Given the description of an element on the screen output the (x, y) to click on. 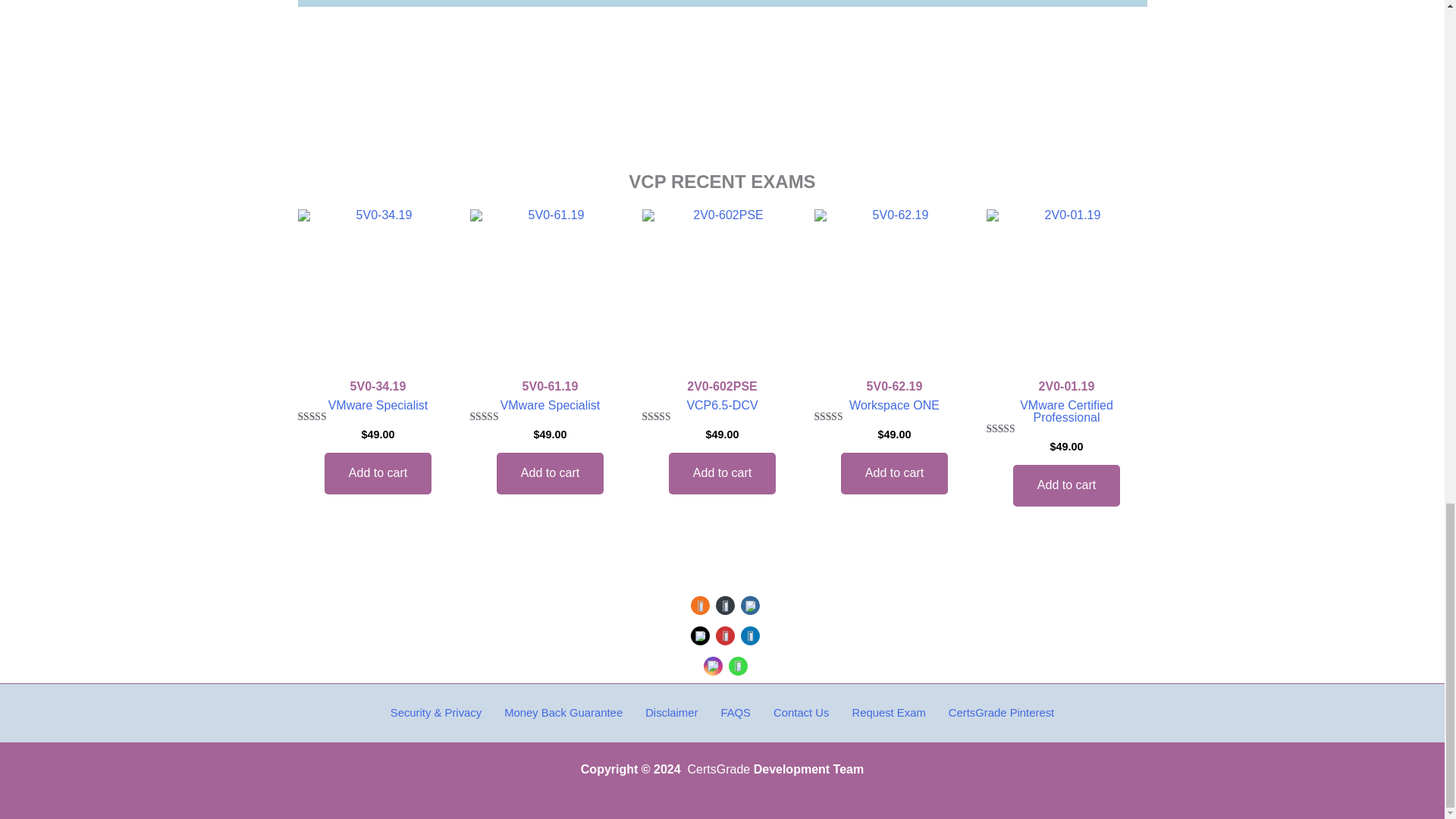
VMware Specialist (378, 404)
Facebook (750, 605)
VMware vRealize Operations 7.5 (377, 289)
VMware Workspace ONE Unified Endpoint Management Specialist (550, 289)
Twitter (700, 635)
VMware vSphere 6.7 Foundations 2019 (1066, 289)
